Given the description of an element on the screen output the (x, y) to click on. 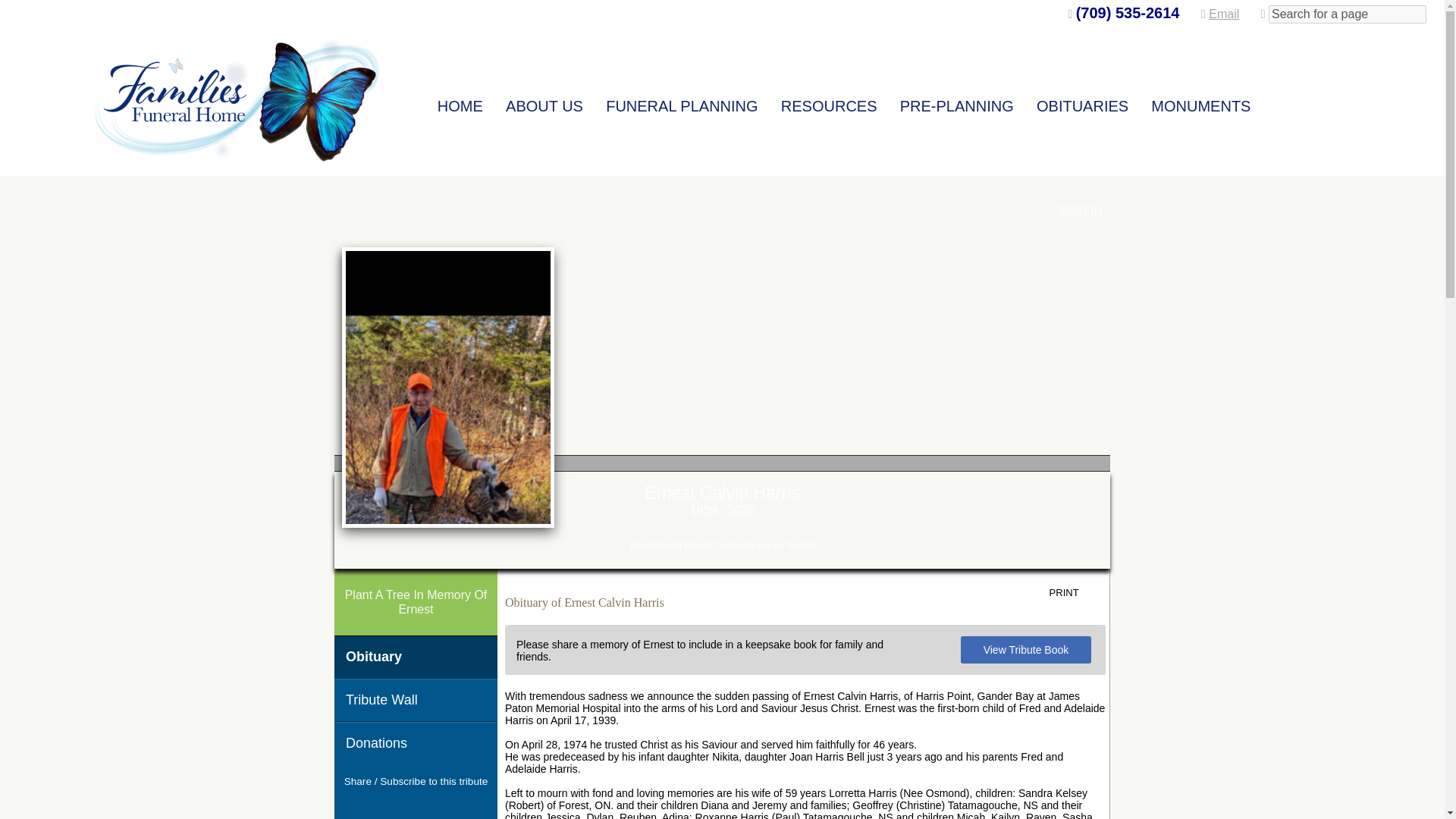
Receive Notifications (442, 808)
ABOUT US (544, 100)
OBITUARIES (1082, 100)
Obituary (415, 657)
SIGN IN (1079, 210)
PRE-PLANNING (957, 100)
PRINT (1075, 592)
FUNERAL PLANNING (681, 100)
Plant A Tree In Memory Of Ernest (415, 601)
HOME (459, 100)
Search for a page (1347, 13)
Search for a page (1347, 13)
View Tribute Book (1026, 649)
RESOURCES (829, 100)
Email (1223, 13)
